Given the description of an element on the screen output the (x, y) to click on. 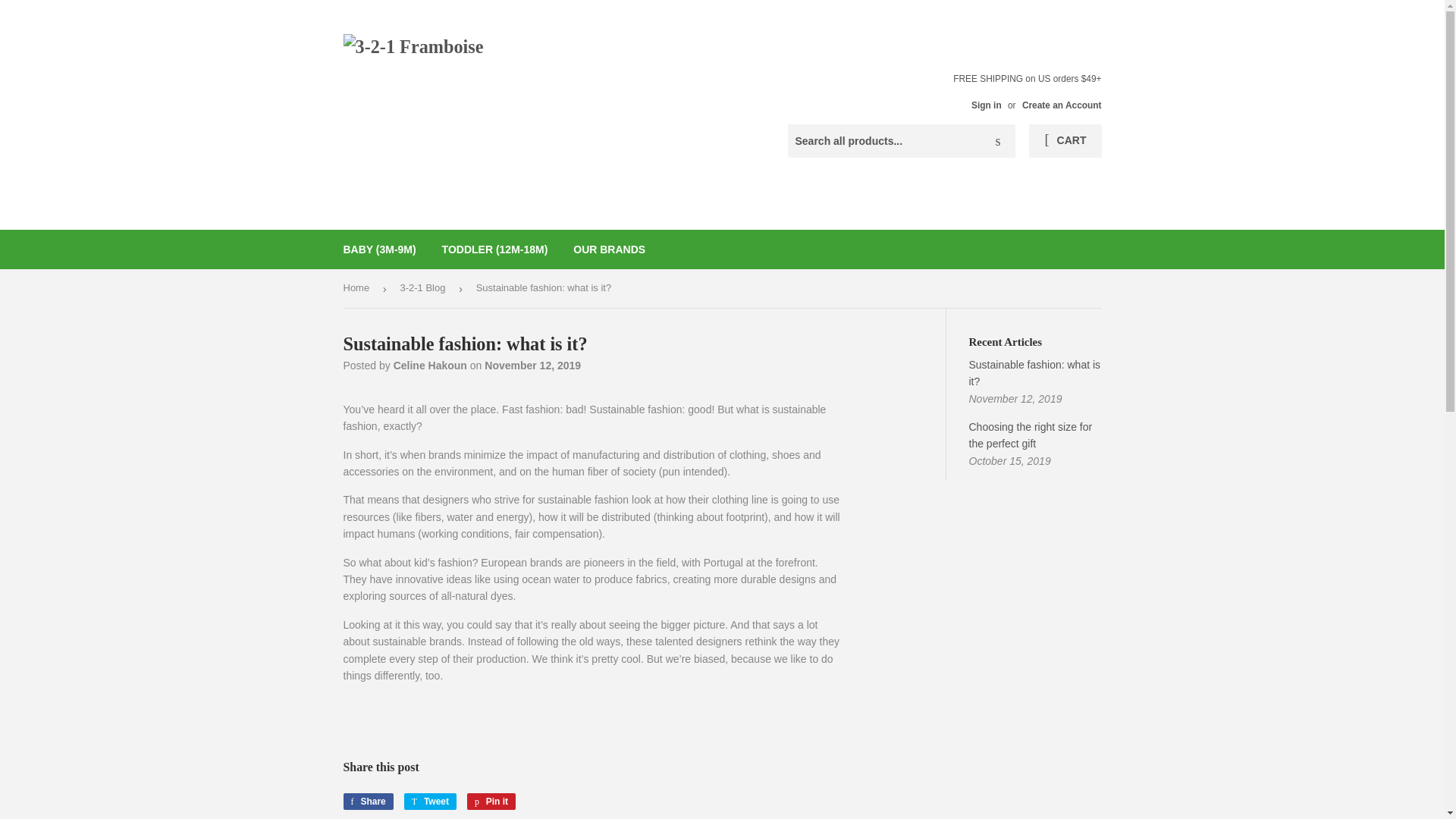
Share on Facebook (367, 801)
Sustainable fashion: what is it? (1034, 372)
Search (997, 142)
Create an Account (367, 801)
Pin on Pinterest (430, 801)
Sign in (1062, 104)
OUR BRANDS (491, 801)
3-2-1 Blog (986, 104)
Tweet on Twitter (609, 249)
Choosing the right size for the perfect gift (491, 801)
CART (423, 288)
